Given the description of an element on the screen output the (x, y) to click on. 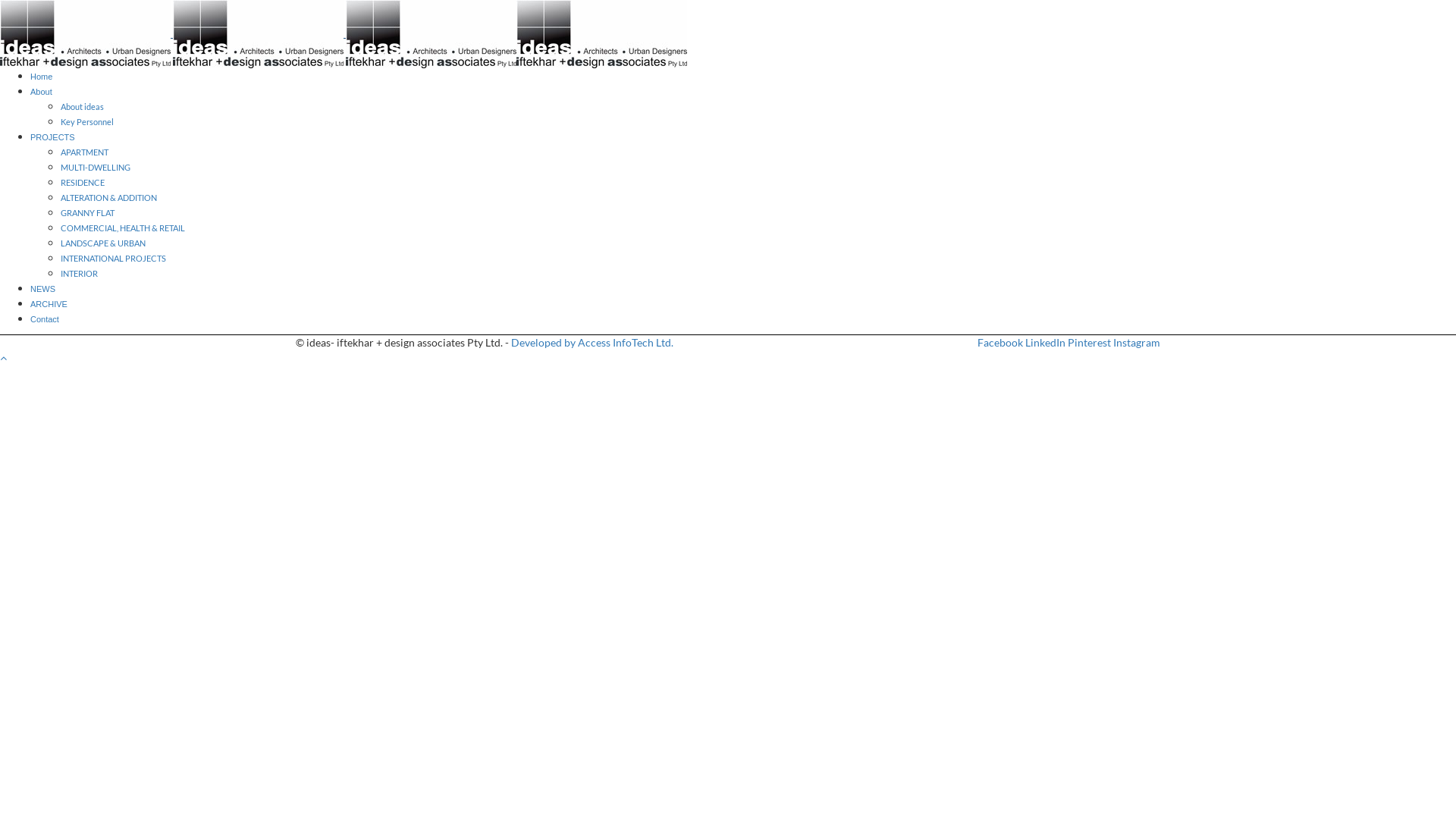
Developed by Access InfoTech Ltd. Element type: text (592, 341)
APARTMENT Element type: text (84, 151)
Facebook Element type: text (999, 341)
PROJECTS Element type: text (52, 136)
LANDSCAPE & URBAN Element type: text (102, 242)
ARCHIVE Element type: text (48, 303)
ALTERATION & ADDITION Element type: text (108, 197)
Key Personnel Element type: text (86, 121)
Pinterest Element type: text (1088, 341)
About ideas Element type: text (81, 106)
GRANNY FLAT Element type: text (87, 212)
COMMERCIAL, HEALTH & RETAIL Element type: text (122, 227)
INTERNATIONAL PROJECTS Element type: text (113, 258)
RESIDENCE Element type: text (82, 182)
NEWS Element type: text (42, 288)
About Element type: text (41, 91)
Contact Element type: text (44, 318)
LinkedIn Element type: text (1045, 341)
MULTI-DWELLING Element type: text (95, 167)
Home Element type: text (41, 76)
Instagram Element type: text (1136, 341)
INTERIOR Element type: text (78, 273)
